Given the description of an element on the screen output the (x, y) to click on. 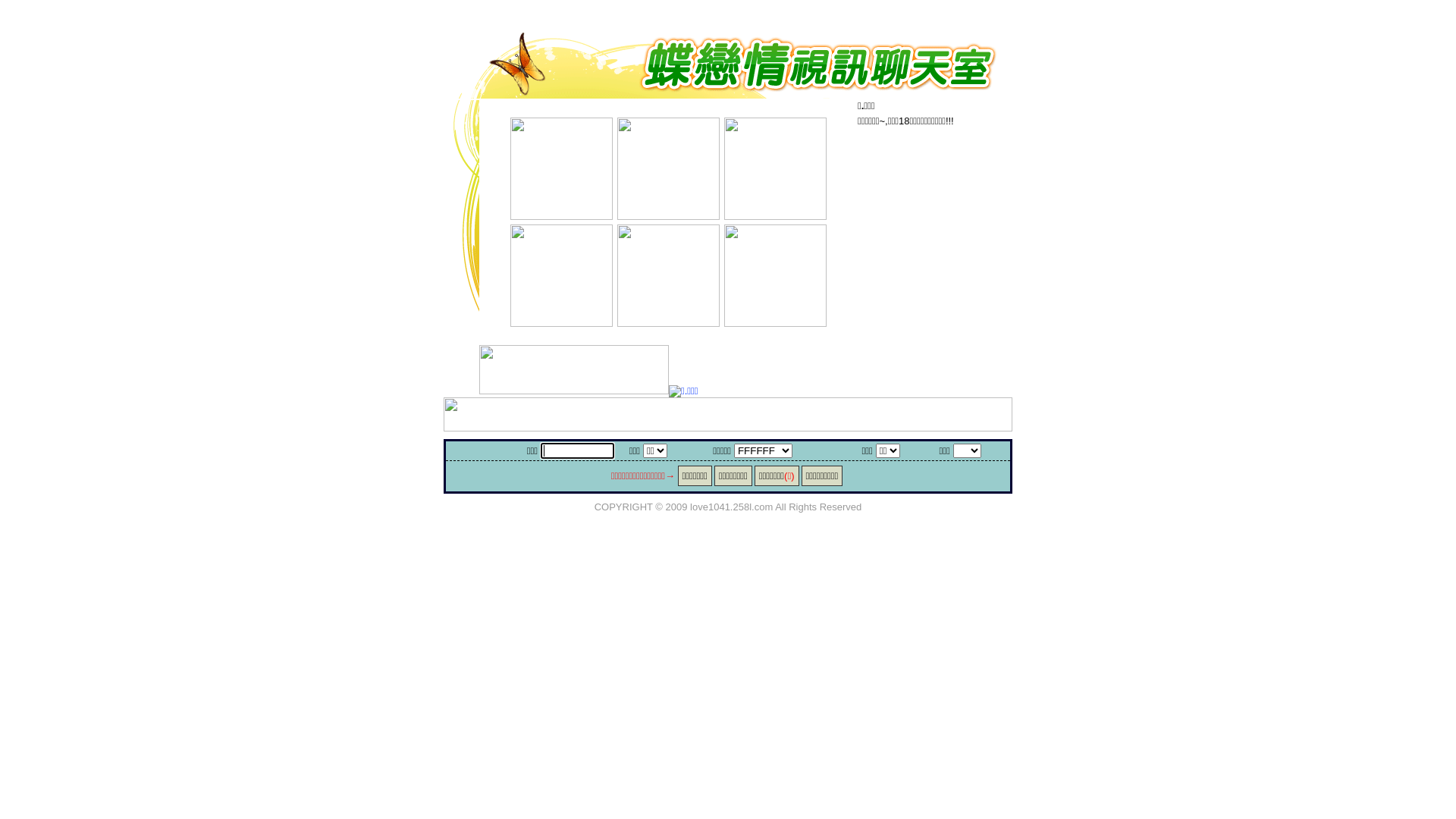
love1041.258l.com Element type: text (731, 505)
